Given the description of an element on the screen output the (x, y) to click on. 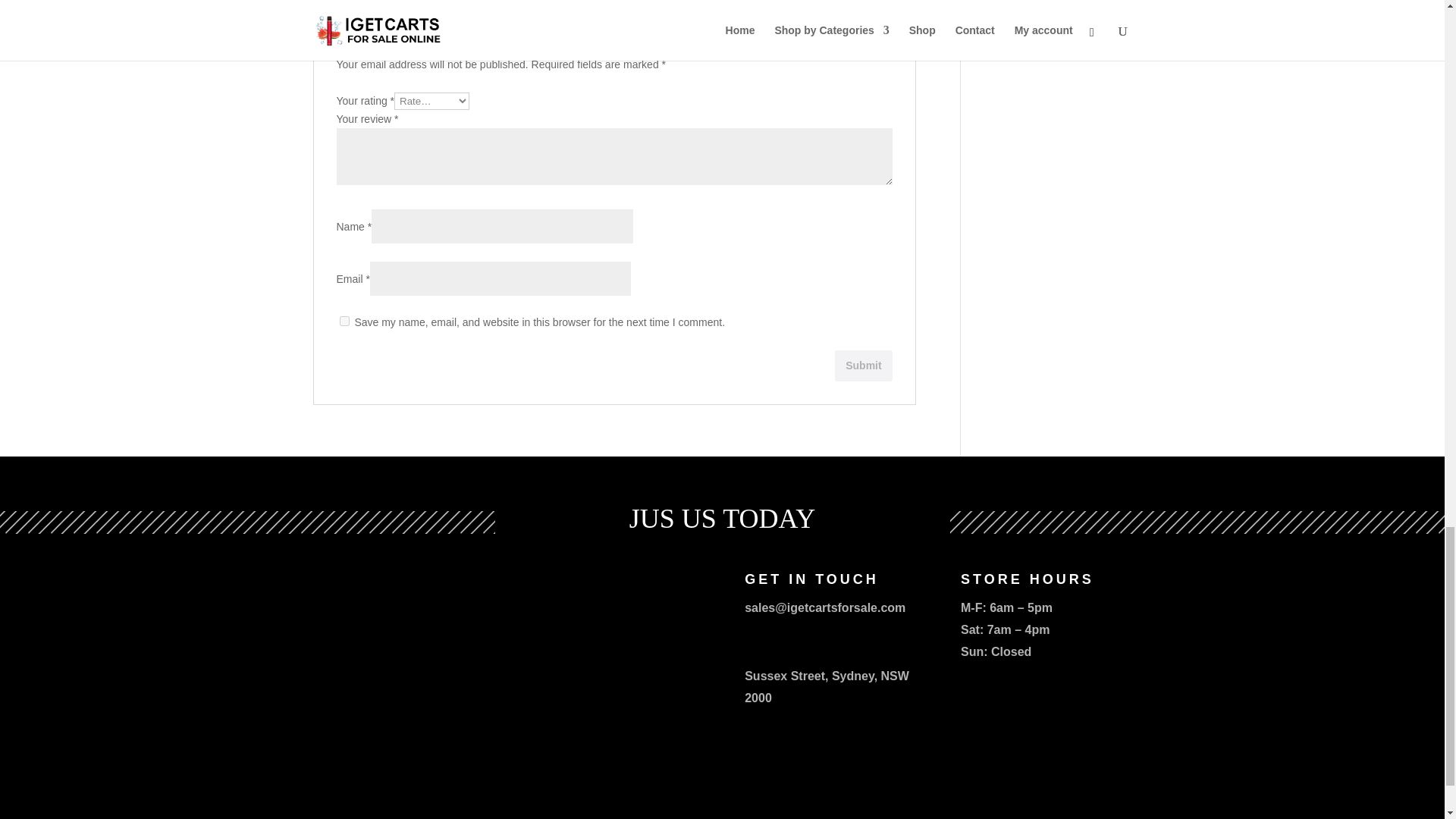
Submit (862, 365)
yes (344, 320)
Submit (862, 365)
